Given the description of an element on the screen output the (x, y) to click on. 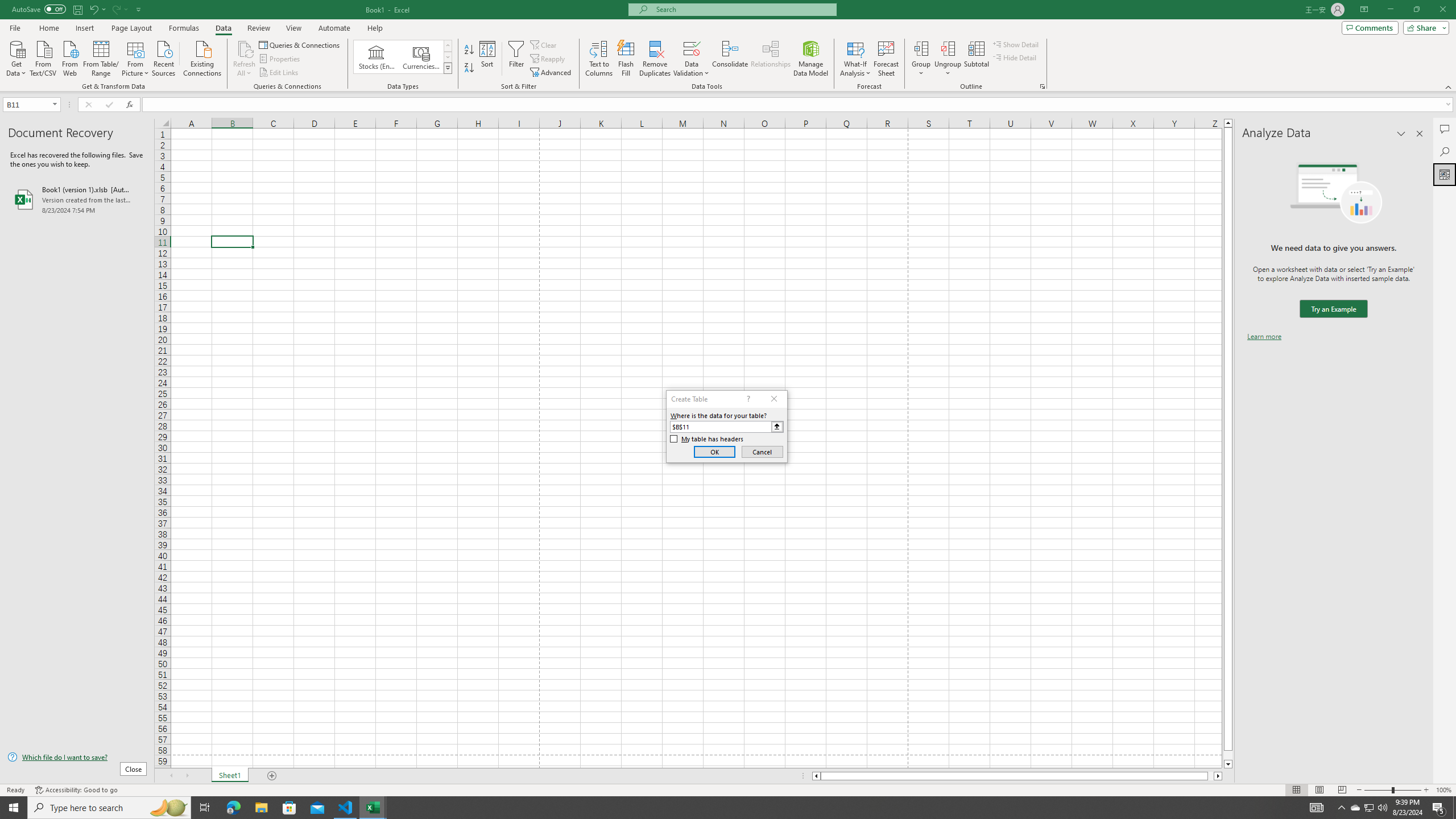
Subtotal (976, 58)
Show Detail (1016, 44)
Consolidate... (729, 58)
Manage Data Model (810, 58)
Close pane (1419, 133)
Microsoft search (742, 9)
